Given the description of an element on the screen output the (x, y) to click on. 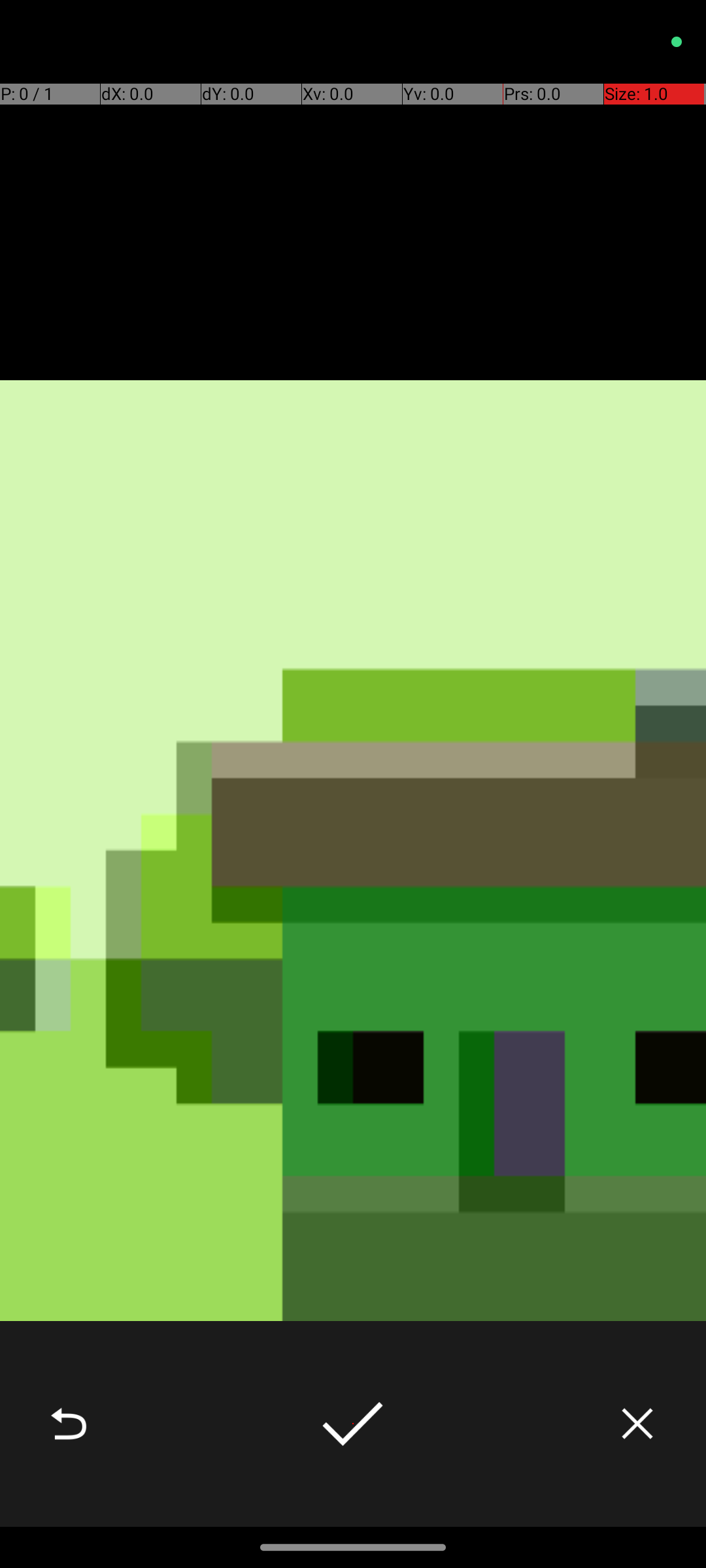
Retake Element type: android.widget.ImageButton (68, 1423)
